Given the description of an element on the screen output the (x, y) to click on. 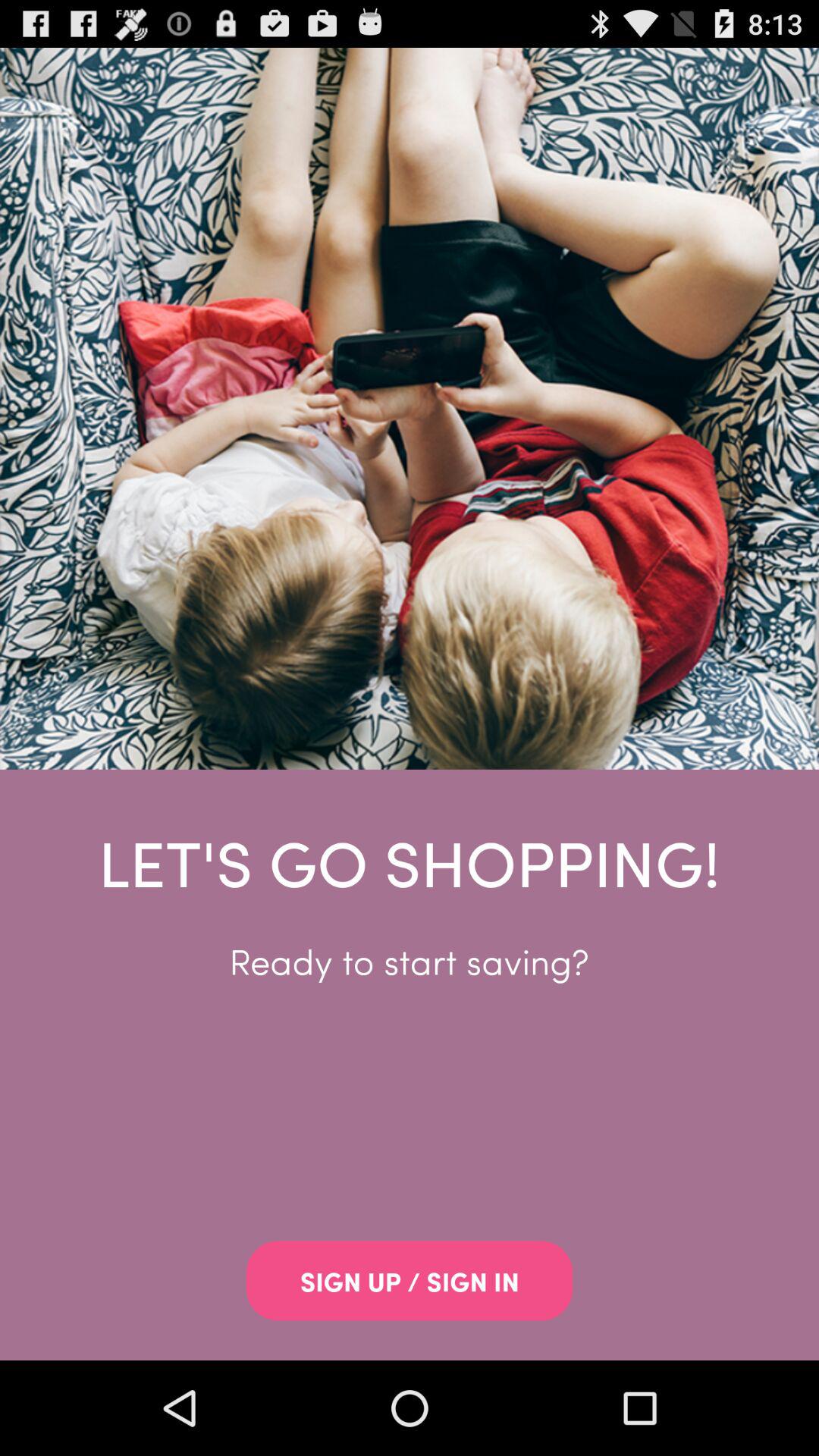
scroll to the sign up sign button (409, 1280)
